Given the description of an element on the screen output the (x, y) to click on. 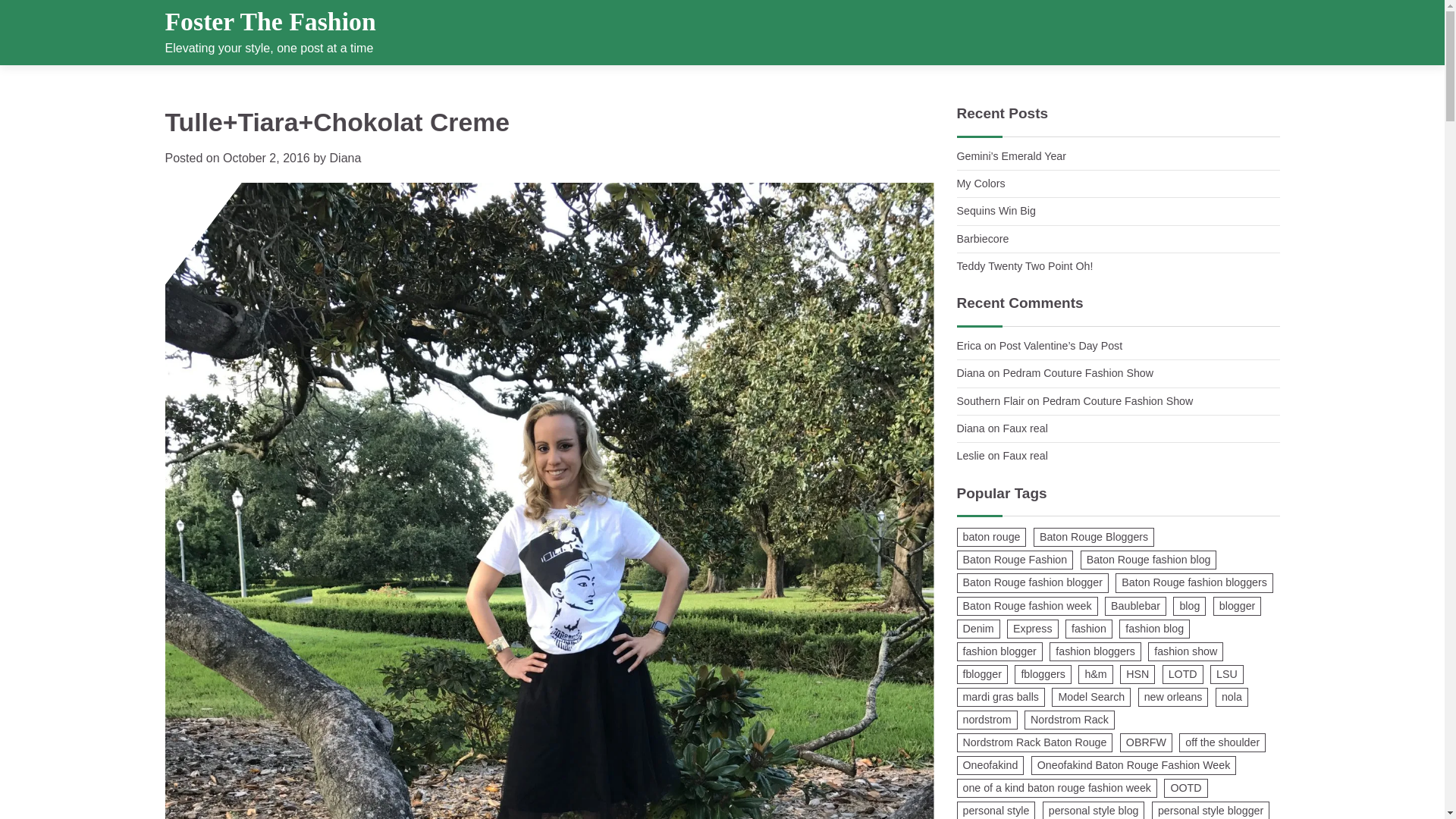
Teddy Twenty Two Point Oh! (1024, 265)
Pedram Couture Fashion Show (1078, 372)
Diana (345, 157)
October 2, 2016 (266, 157)
My Colors (981, 183)
Sequins Win Big (995, 210)
Foster The Fashion (270, 21)
Barbiecore (982, 238)
